Given the description of an element on the screen output the (x, y) to click on. 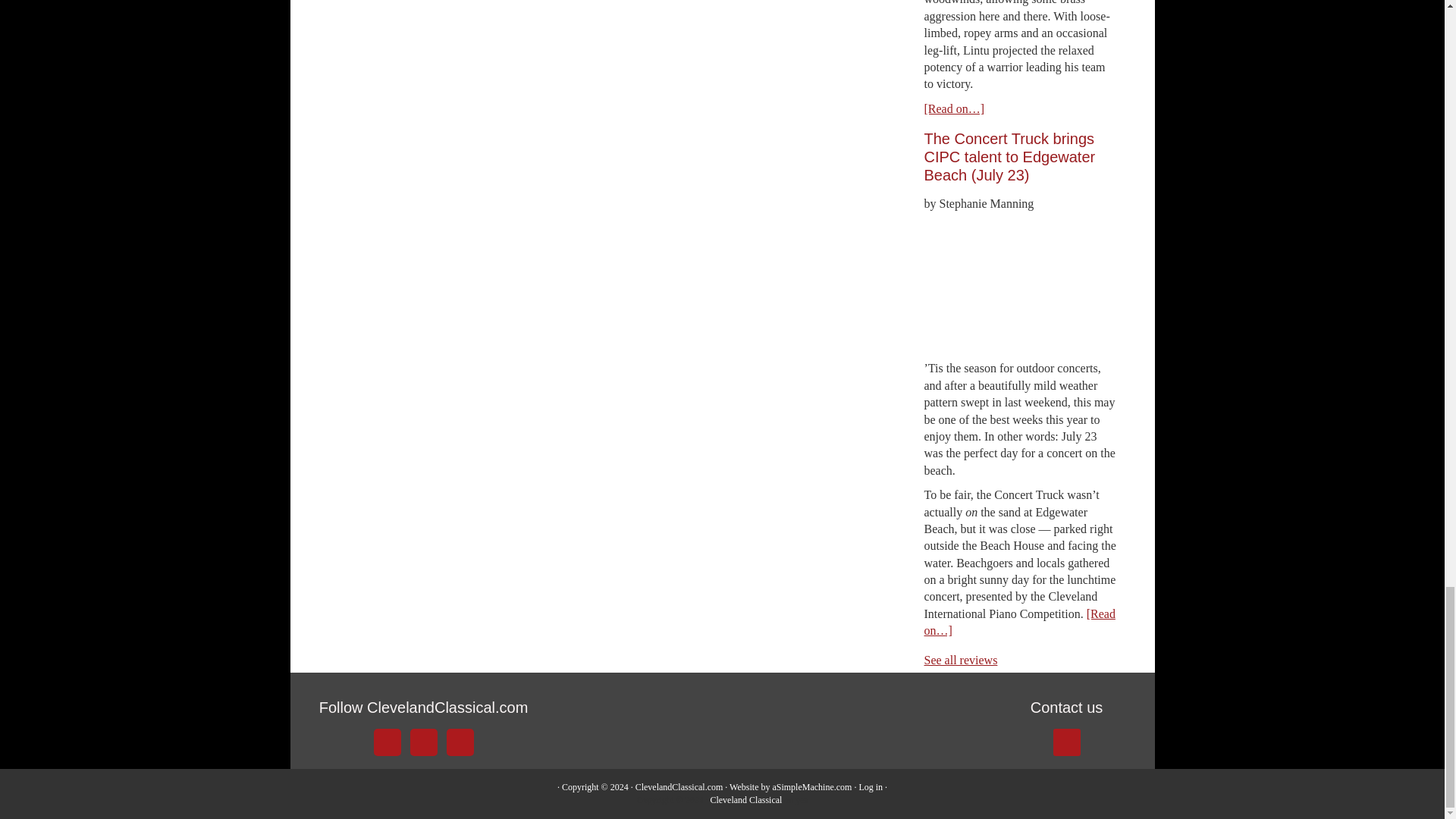
Reviews (960, 659)
